Given the description of an element on the screen output the (x, y) to click on. 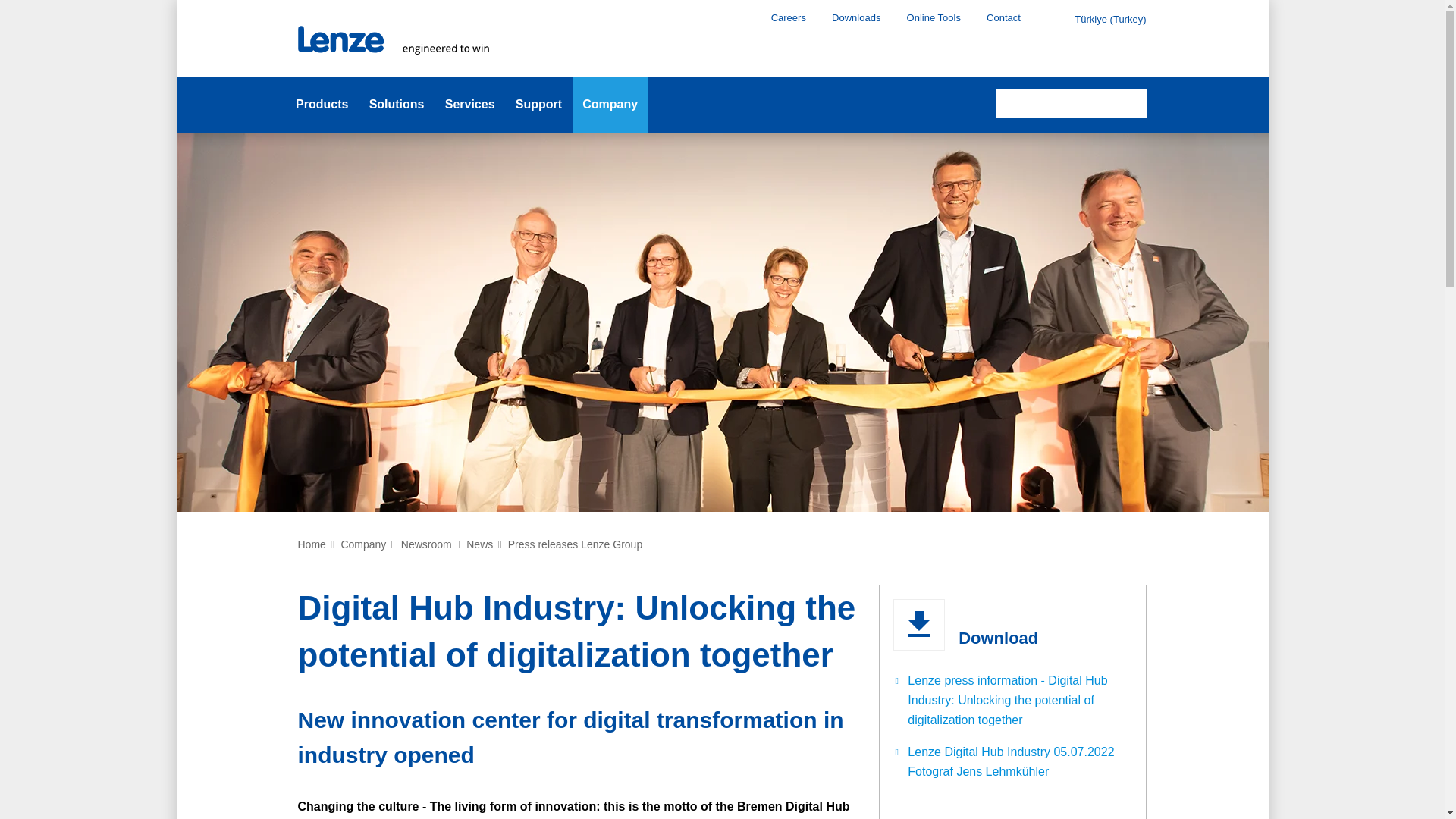
Contact (1003, 17)
Careers (788, 17)
Products (321, 104)
Online Tools (933, 17)
Downloads (856, 17)
